Given the description of an element on the screen output the (x, y) to click on. 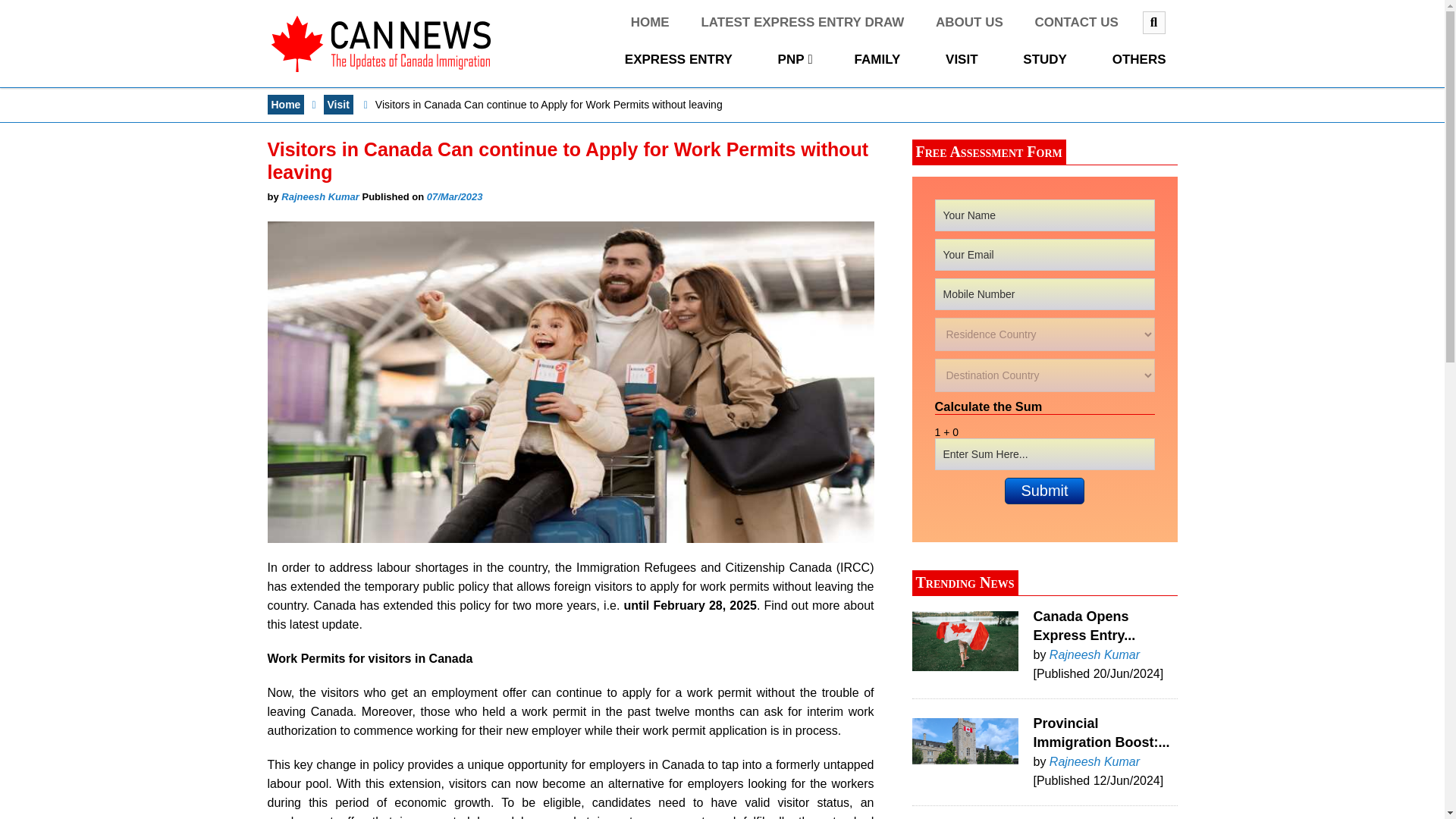
ABOUT US (971, 22)
PNP (794, 59)
VISIT (962, 59)
HOME (651, 22)
EXPRESS ENTRY (680, 59)
LATEST EXPRESS ENTRY DRAW (803, 22)
CONTACT US (1078, 22)
Submit (1043, 490)
FAMILY (879, 59)
